Given the description of an element on the screen output the (x, y) to click on. 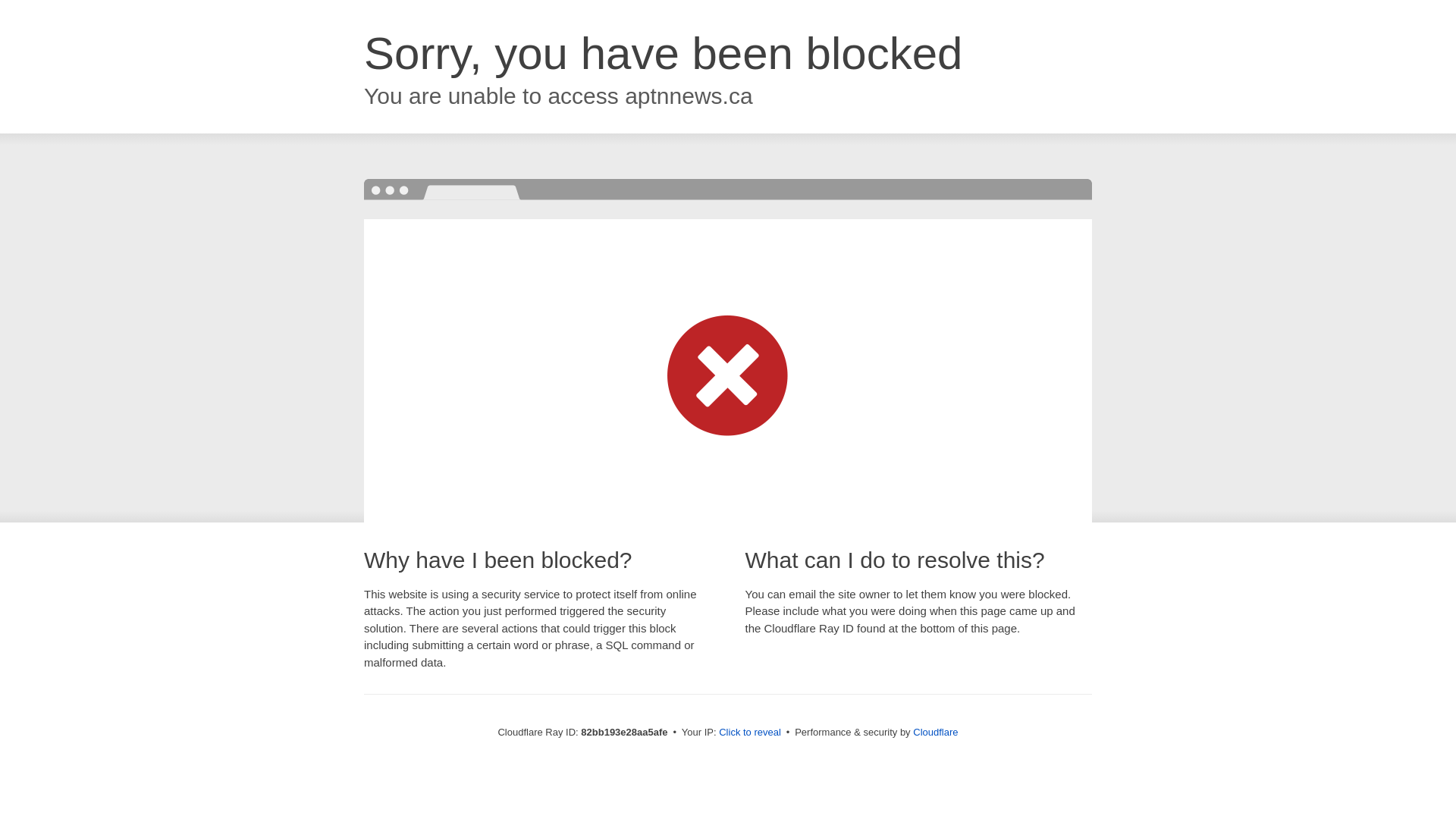
Click to reveal Element type: text (749, 732)
Cloudflare Element type: text (935, 731)
